Given the description of an element on the screen output the (x, y) to click on. 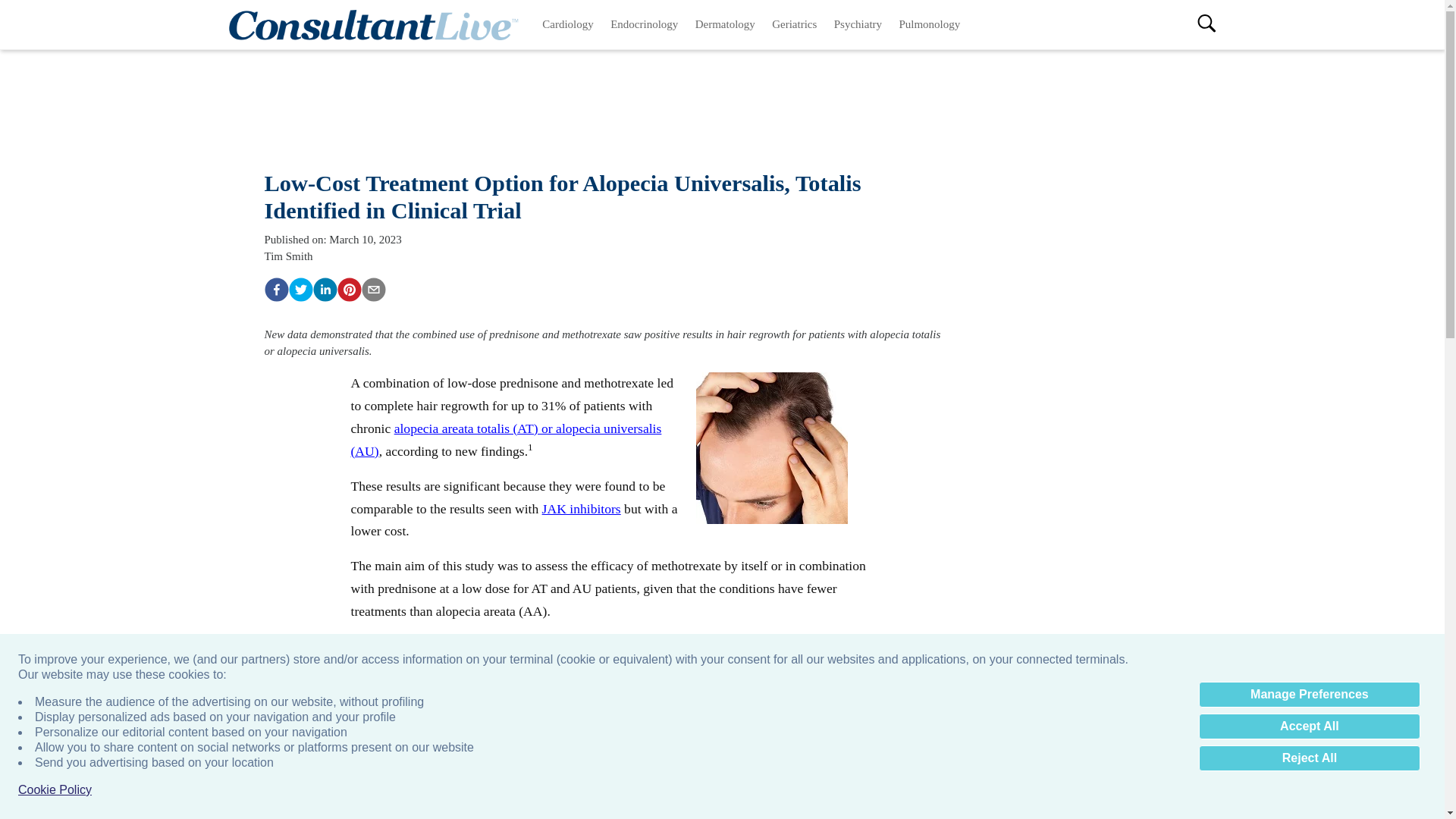
Cardiology (568, 24)
Geriatrics (793, 24)
Manage Preferences (1309, 694)
Psychiatry (858, 24)
Tim Smith (288, 256)
JAK inhibitors (581, 507)
Accept All (1309, 726)
Reject All (1309, 758)
Pulmonology (928, 24)
Cookie Policy (54, 789)
Dermatology (725, 24)
Endocrinology (644, 24)
